Given the description of an element on the screen output the (x, y) to click on. 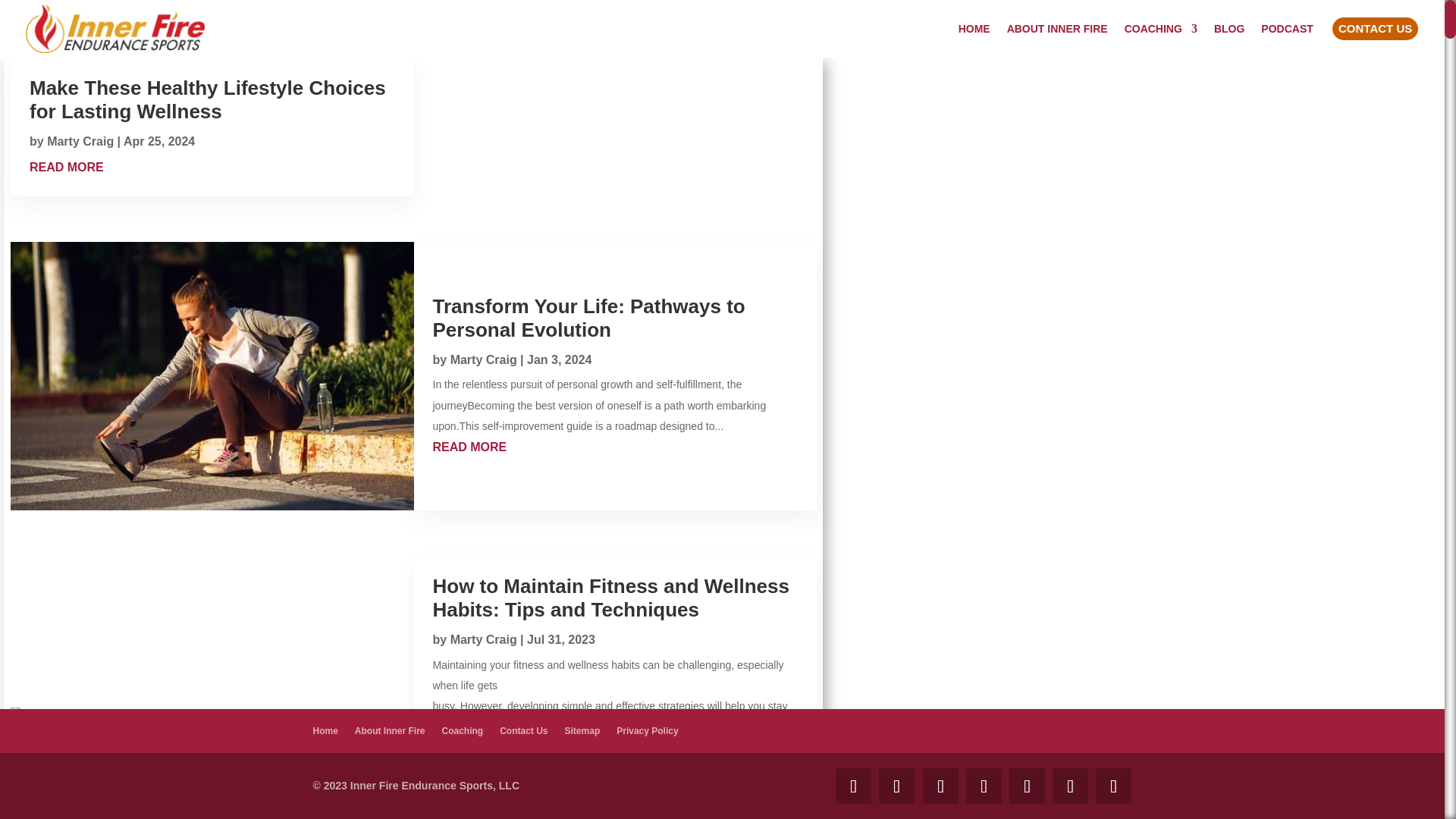
BLOG (1229, 39)
READ MORE (614, 446)
Posts by Marty Craig (482, 359)
ABOUT INNER FIRE (1057, 39)
READ MORE (66, 167)
Marty Craig (482, 639)
COACHING (1160, 39)
CONTACT US (1374, 36)
Posts by Marty Craig (79, 141)
Posts by Marty Craig (482, 639)
